Given the description of an element on the screen output the (x, y) to click on. 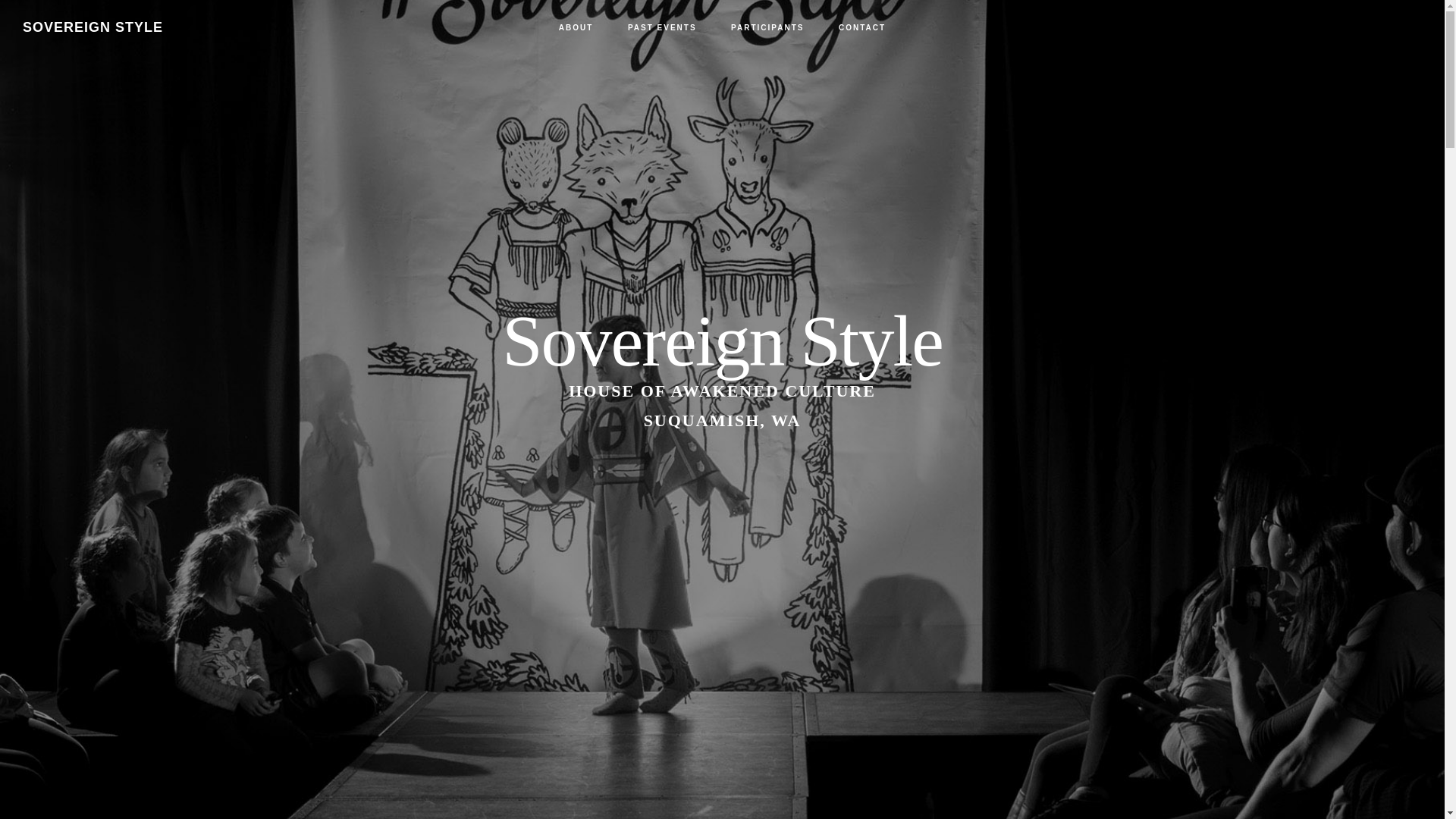
PAST EVENTS (661, 27)
PARTICIPANTS (767, 27)
SOVEREIGN STYLE (93, 27)
ABOUT (575, 27)
CONTACT (862, 27)
